Given the description of an element on the screen output the (x, y) to click on. 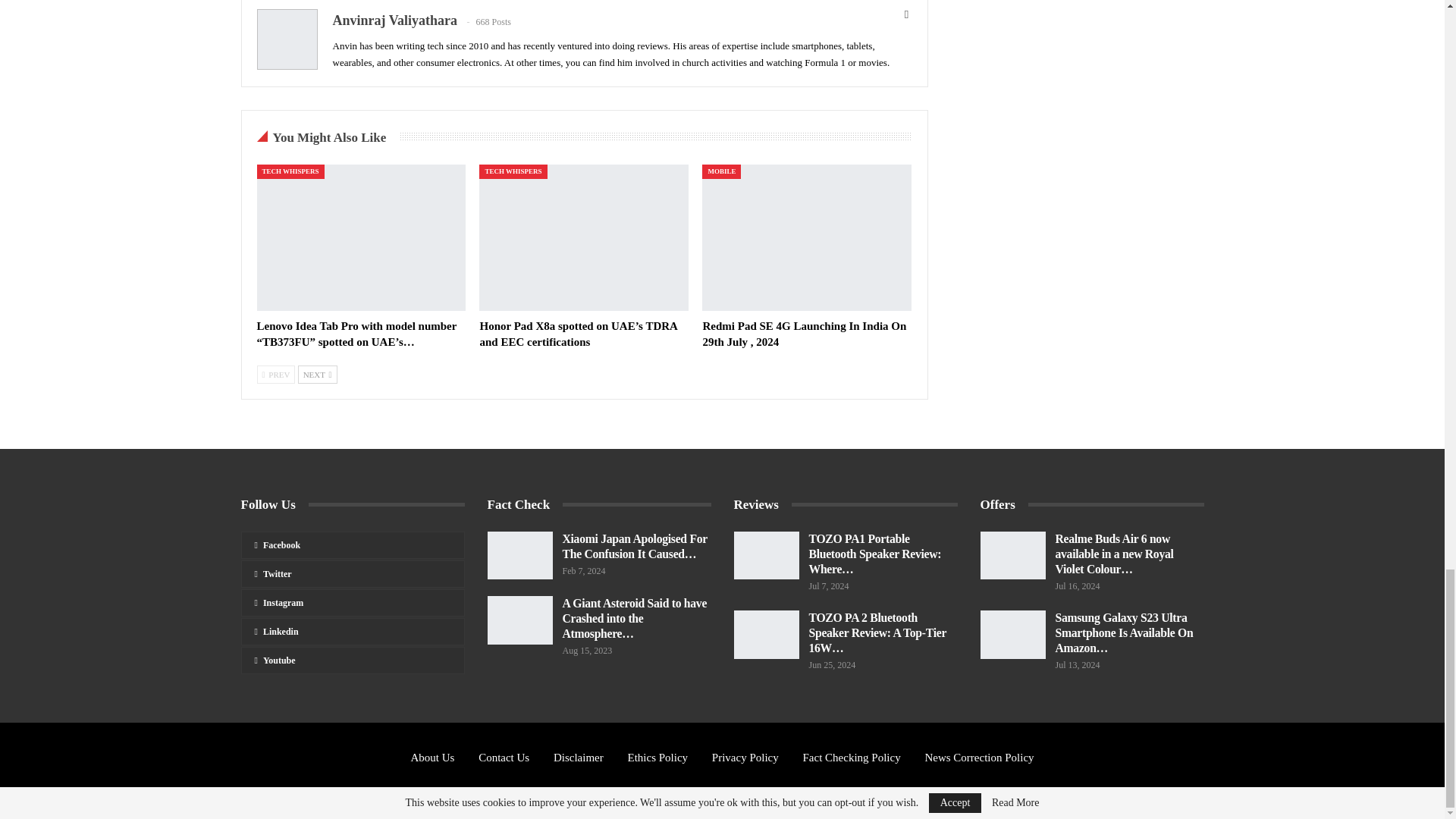
Redmi Pad SE 4G Launching In India On 29th July , 2024 (806, 237)
Redmi Pad SE 4G Launching In India On 29th July , 2024 (803, 334)
